Given the description of an element on the screen output the (x, y) to click on. 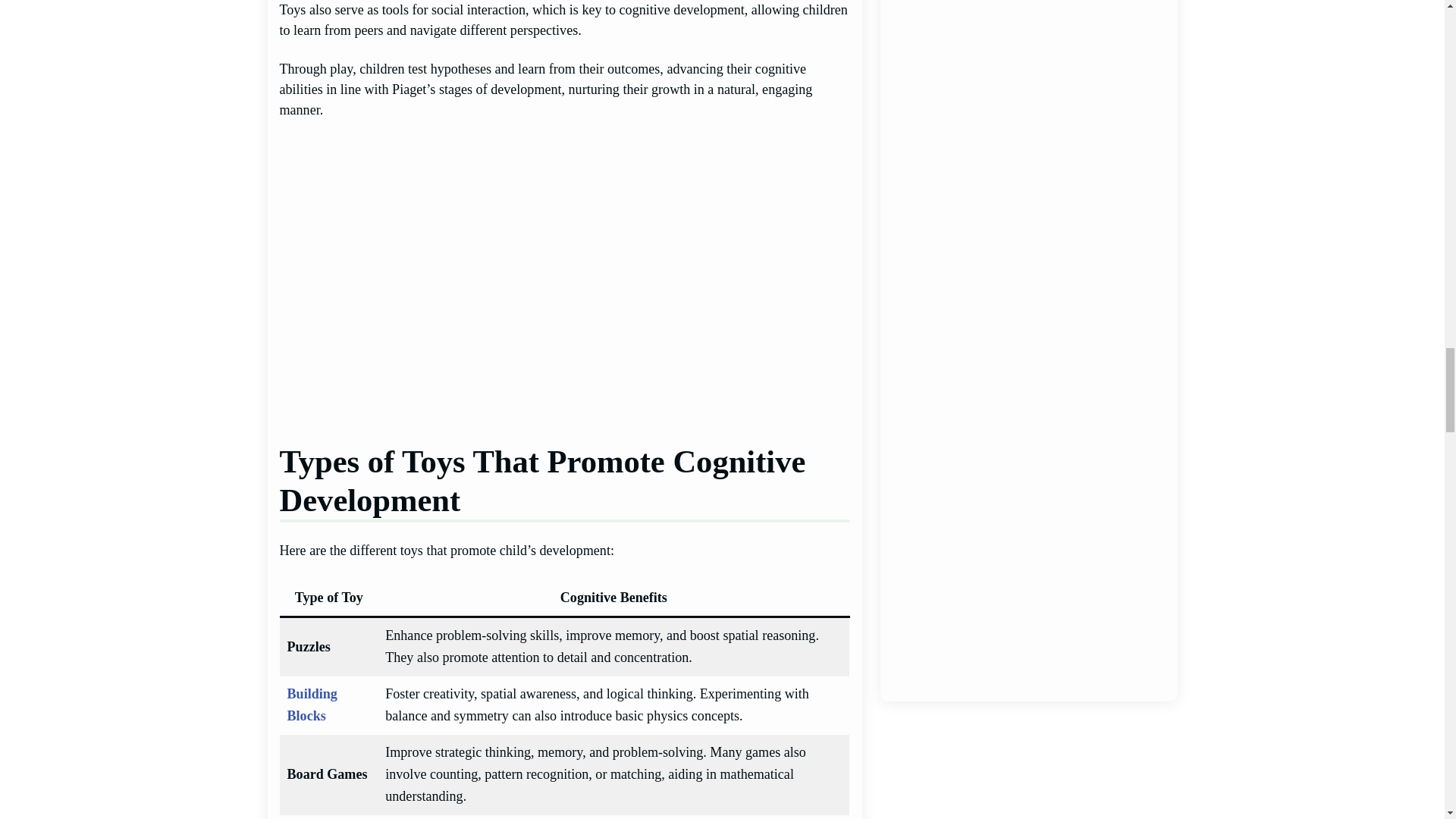
Building Blocks (311, 704)
